Given the description of an element on the screen output the (x, y) to click on. 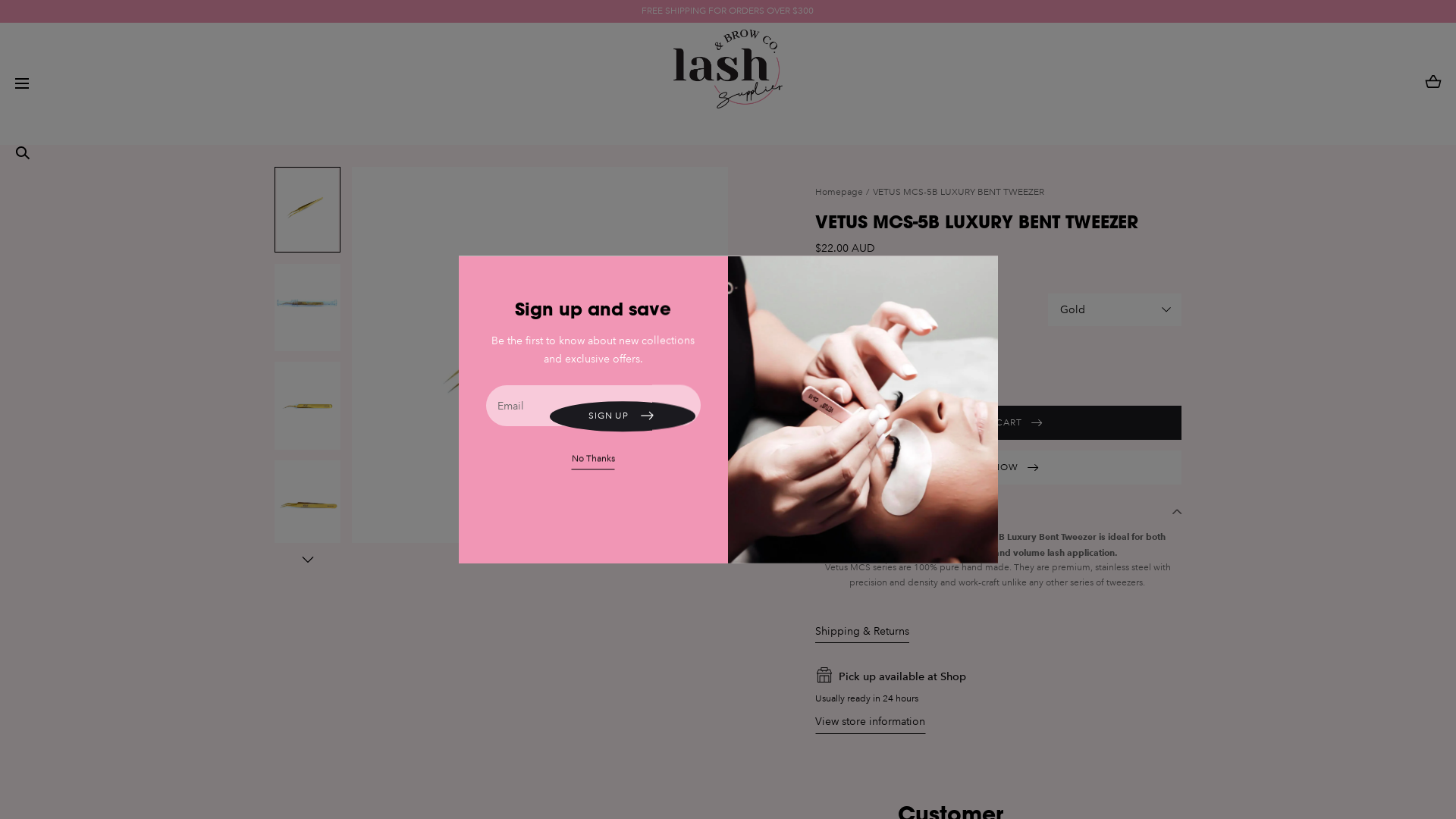
Next Element type: text (306, 558)
Lash & Brow Co Supplies Element type: hover (727, 83)
Homepage Element type: text (842, 191)
ADD TO CART Element type: text (997, 422)
BUY IT NOW Element type: text (997, 467)
Previous Element type: text (654, 506)
Cart
0 items Element type: text (1433, 83)
SIGN UP Element type: text (622, 416)
No Thanks Element type: text (593, 460)
Increase quantity for VETUS MCS-5B LUXURY BENT TWEEZER Element type: text (862, 371)
Decrease quantity for VETUS MCS-5B LUXURY BENT TWEEZER Element type: text (828, 371)
Next Element type: text (692, 506)
View store information Element type: text (870, 723)
Shipping & Returns Element type: text (862, 632)
